Given the description of an element on the screen output the (x, y) to click on. 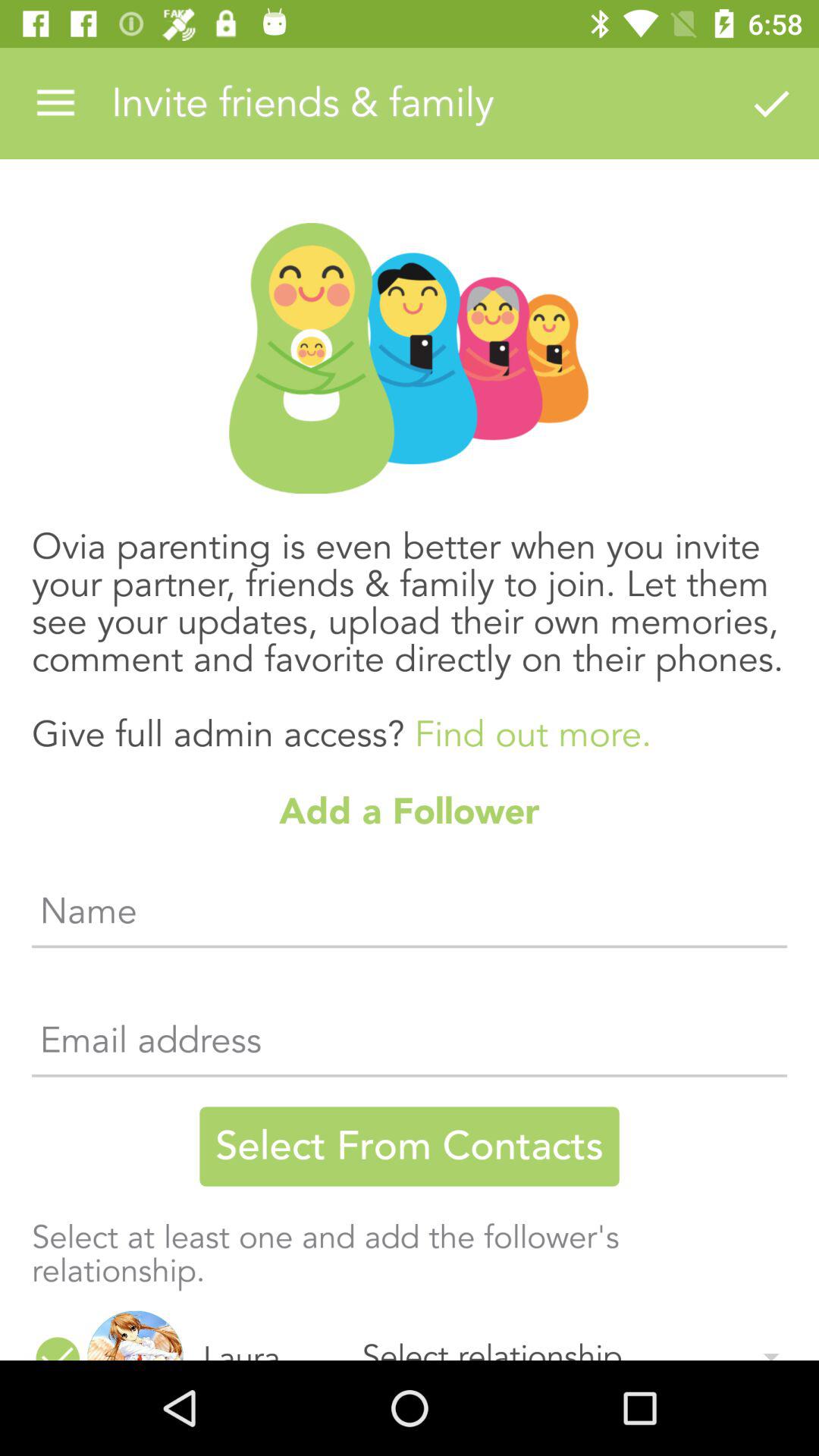
click the ovia parenting is icon (409, 625)
